Given the description of an element on the screen output the (x, y) to click on. 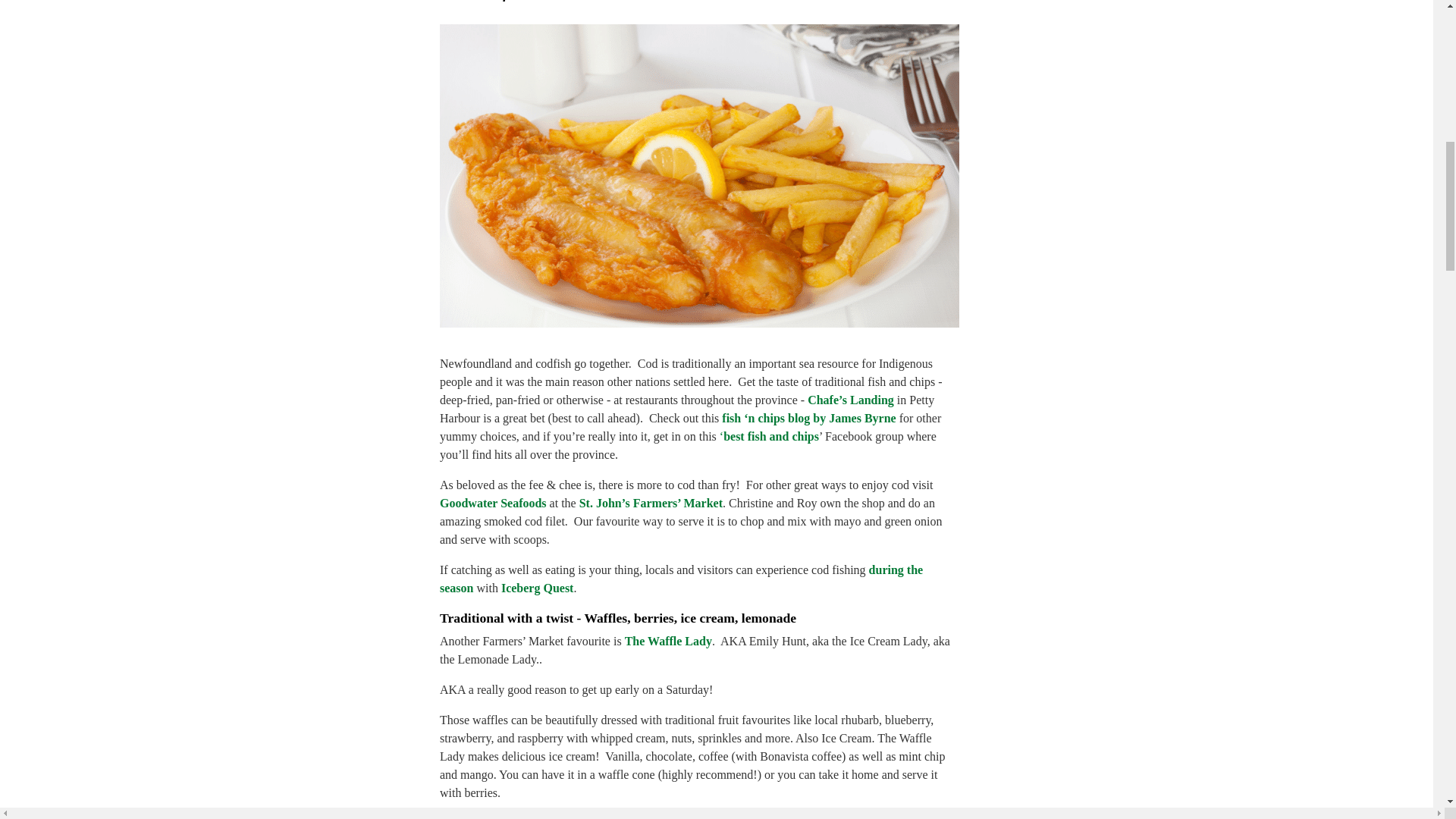
Goodwater Seafoods (493, 502)
during the season (681, 578)
The Waffle Lady (667, 640)
Iceberg Quest (536, 587)
